Given the description of an element on the screen output the (x, y) to click on. 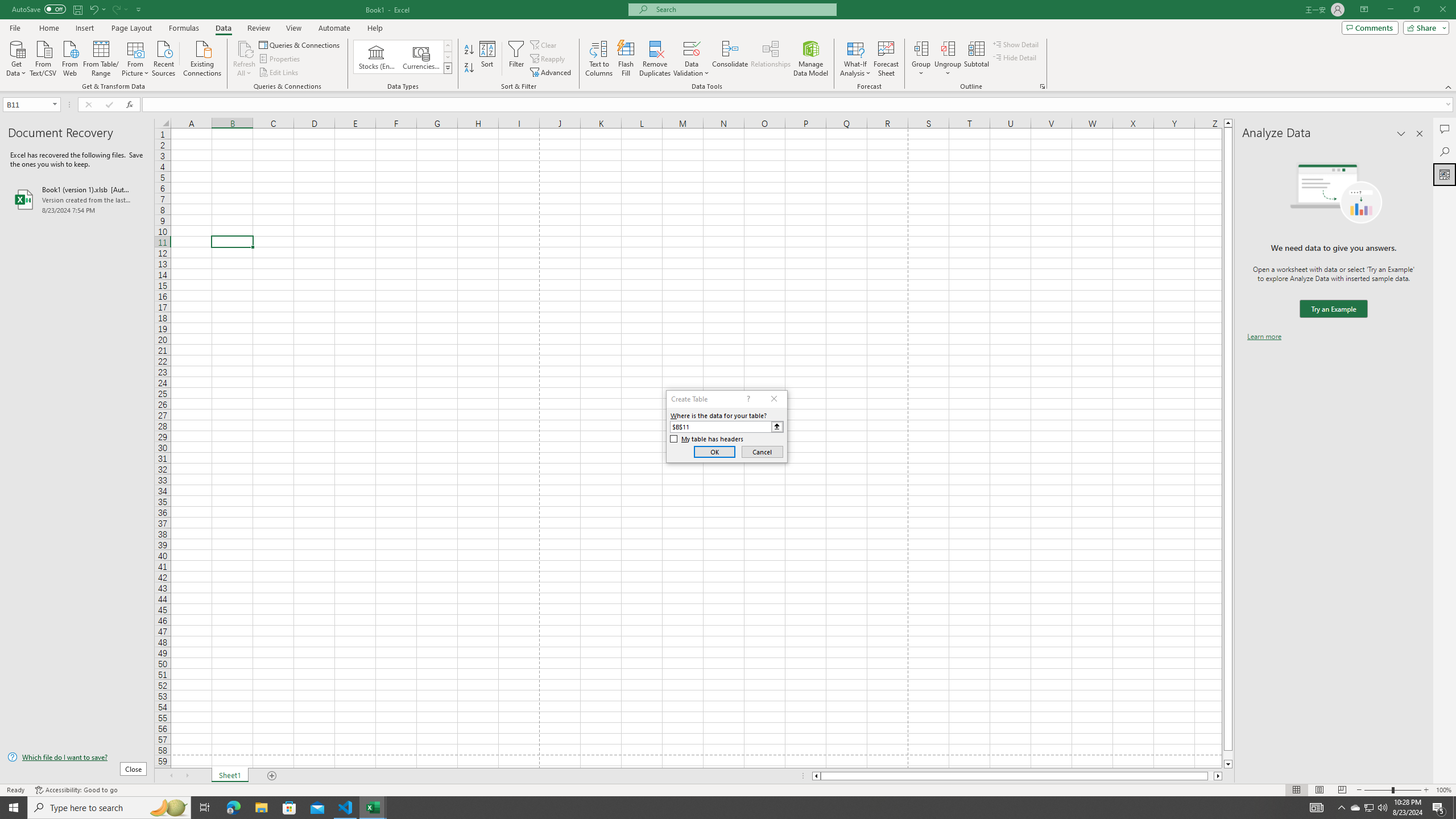
Existing Connections (202, 57)
Forecast Sheet (885, 58)
We need data to give you answers. Try an Example (1333, 308)
Recent Sources (163, 57)
